Given the description of an element on the screen output the (x, y) to click on. 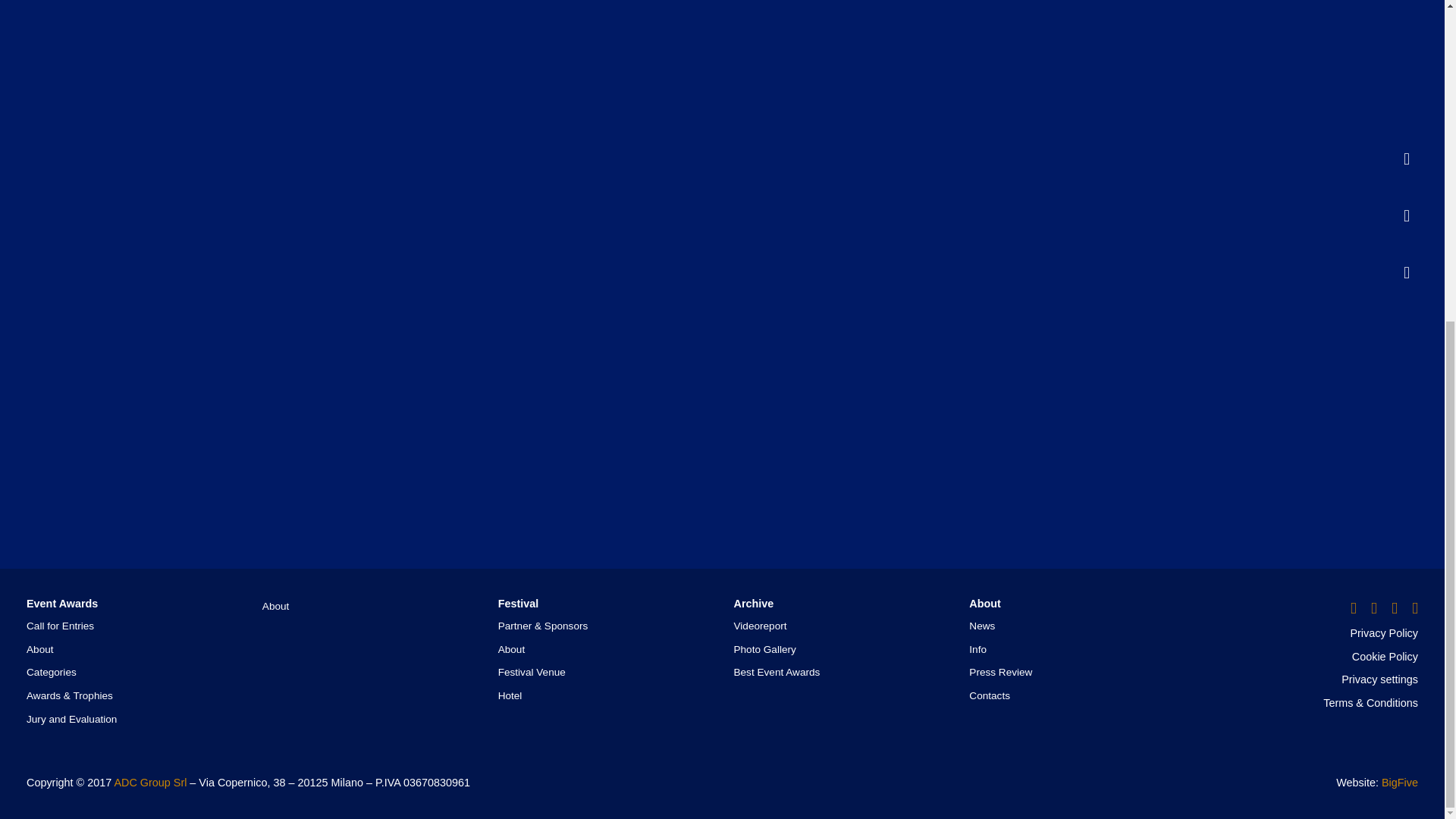
Call for Entries (60, 625)
Event Awards (61, 603)
About (39, 649)
